Given the description of an element on the screen output the (x, y) to click on. 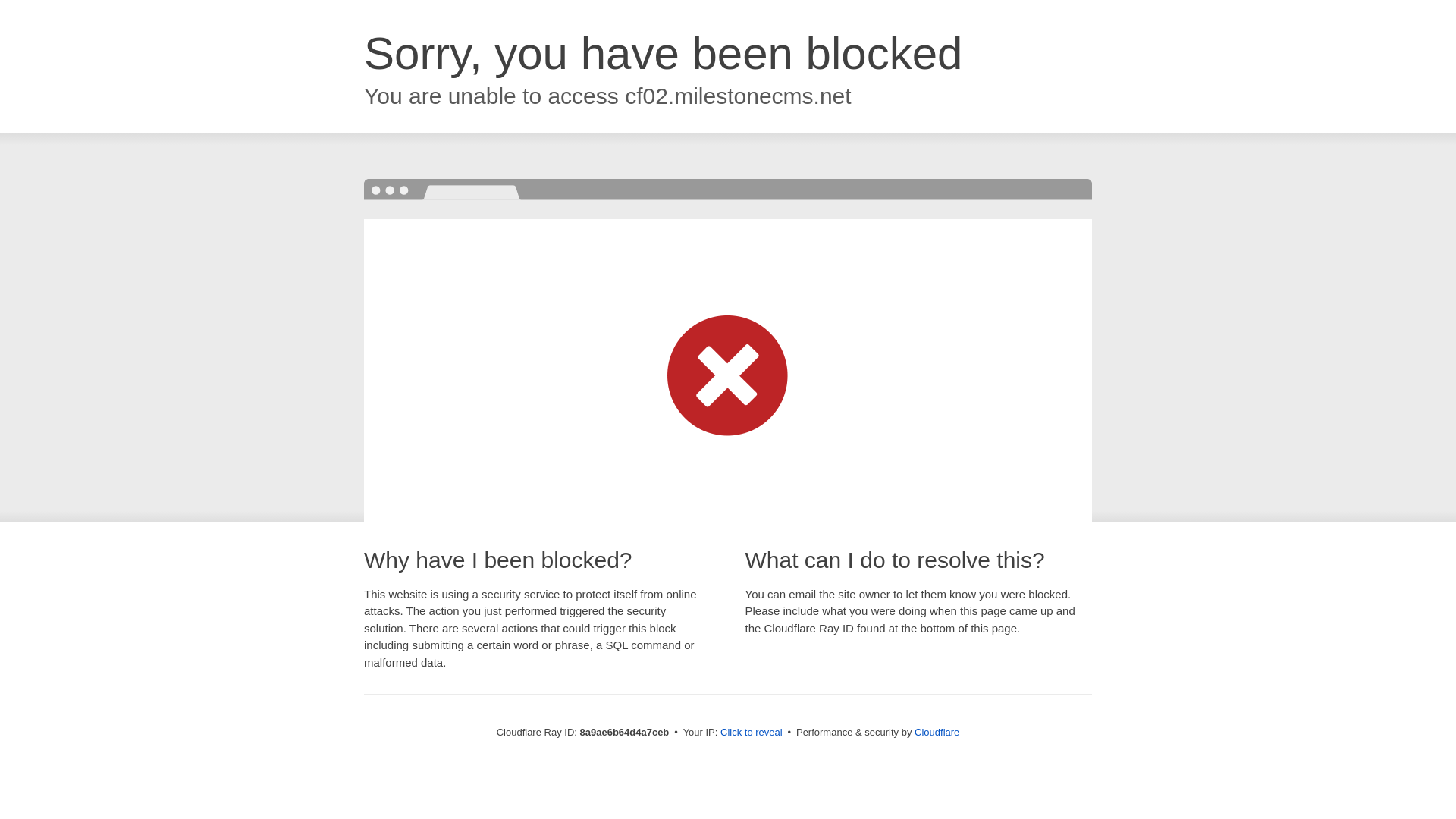
Click to reveal (751, 732)
Cloudflare (936, 731)
